Given the description of an element on the screen output the (x, y) to click on. 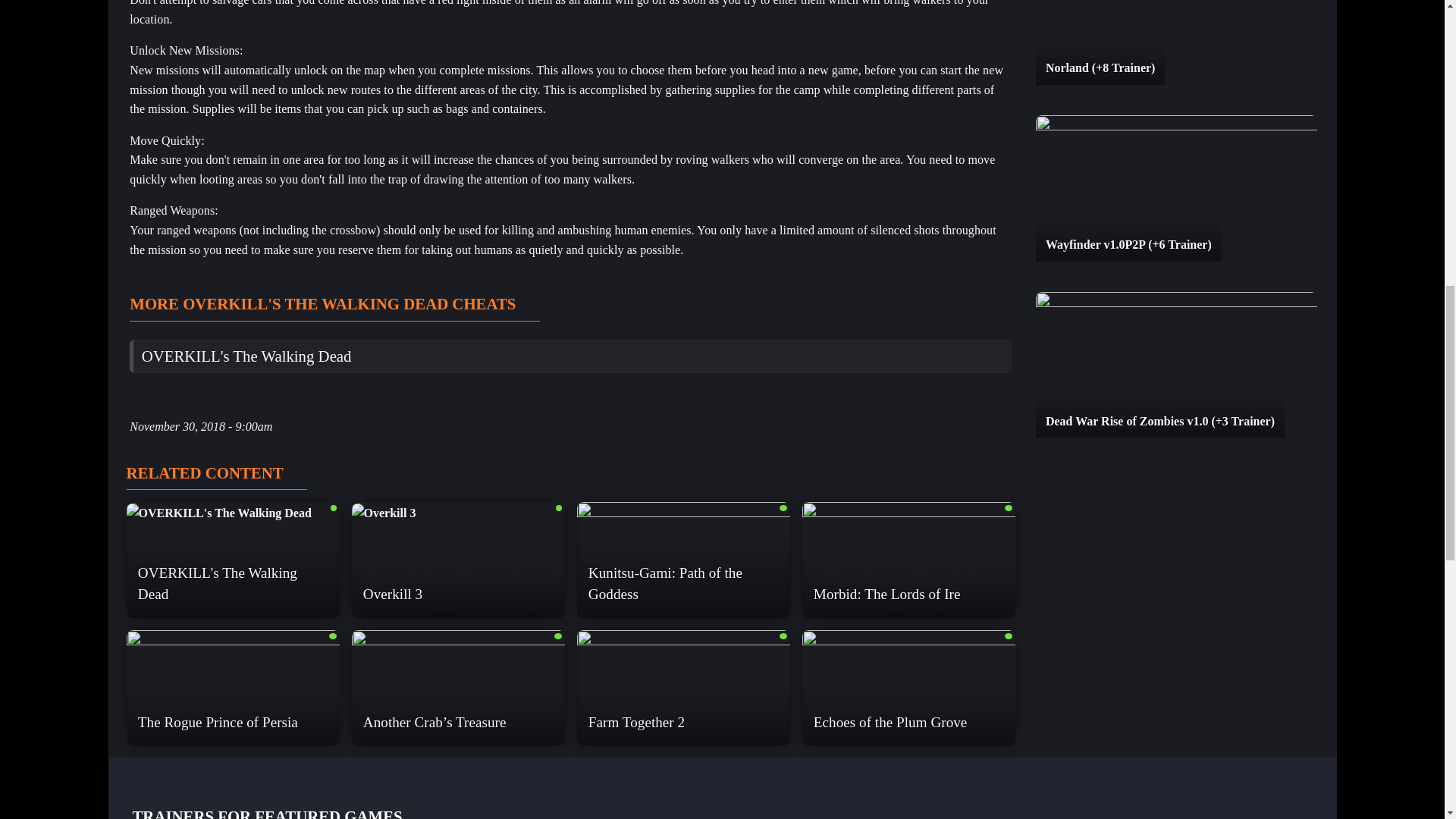
OVERKILL's The Walking Dead (218, 513)
OVERKILL's The Walking Dead (232, 512)
Overkill 3 (384, 513)
Overkill 3 (458, 512)
OVERKILL's The Walking Dead (246, 355)
Kunitsu-Gami: Path of the Goddess (682, 559)
